Given the description of an element on the screen output the (x, y) to click on. 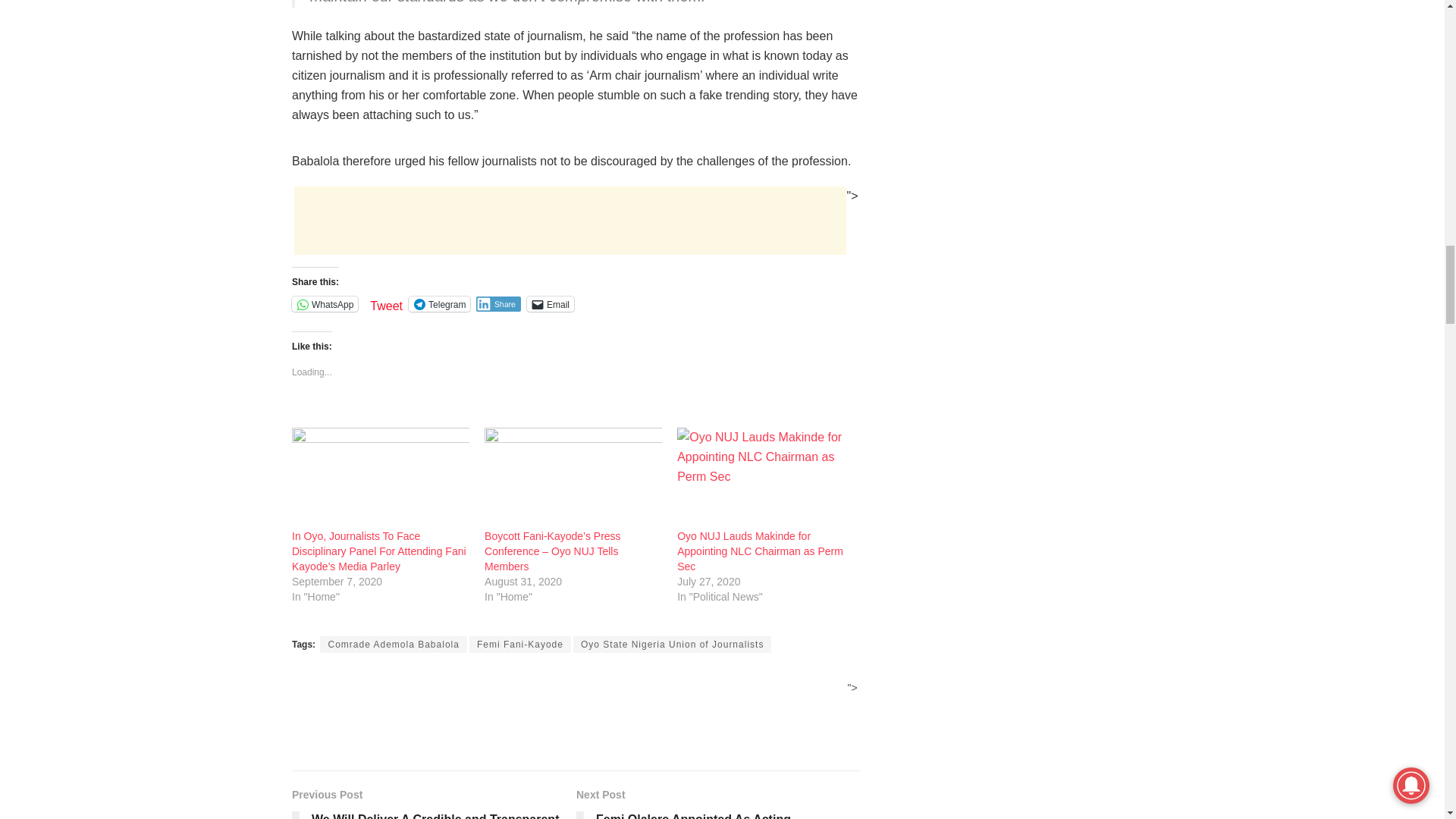
Click to share on WhatsApp (325, 304)
Click to email a link to a friend (550, 304)
Click to share on Telegram (439, 304)
